Given the description of an element on the screen output the (x, y) to click on. 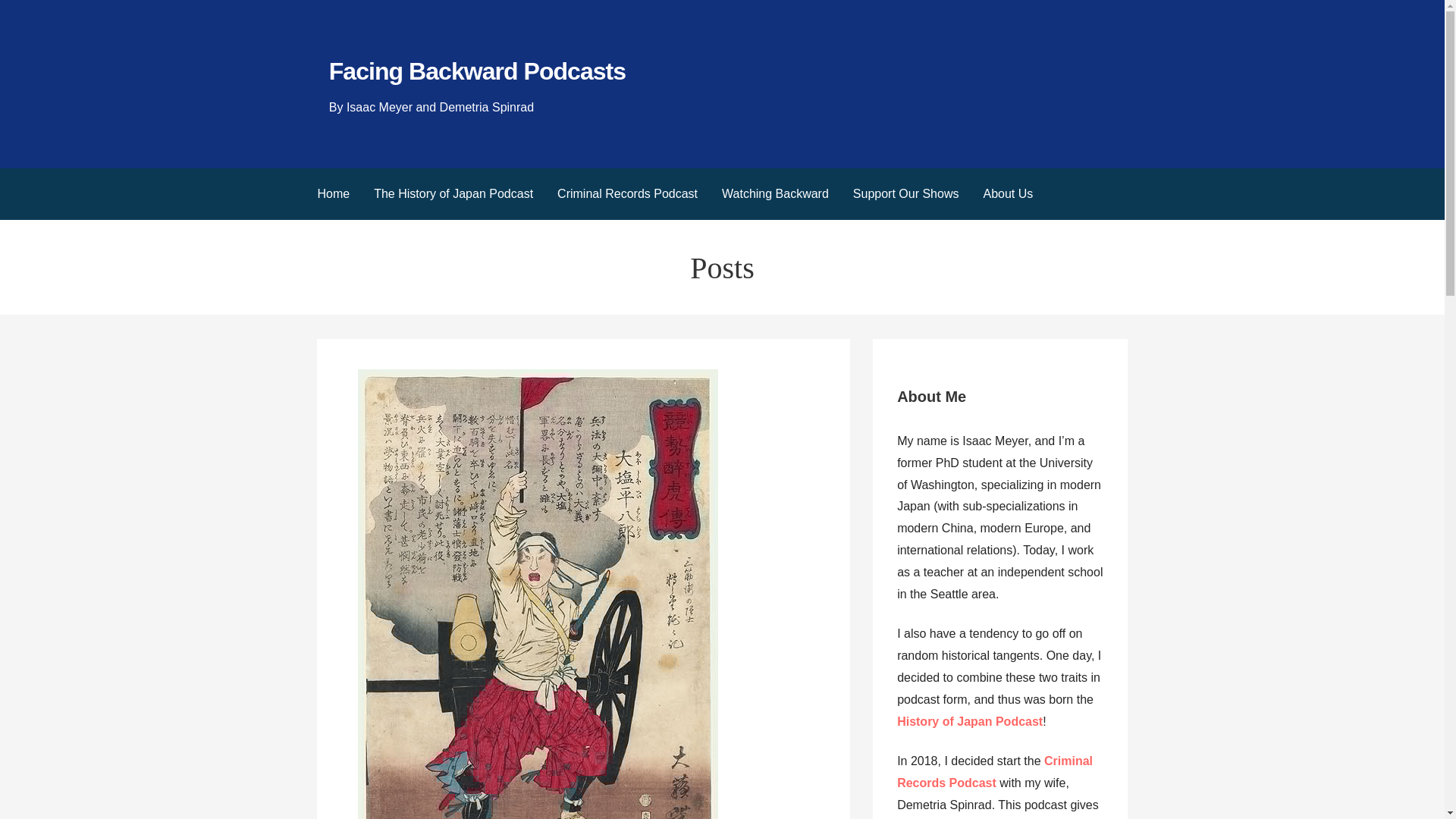
Support Our Shows (906, 193)
Facing Backward Podcasts (477, 71)
Watching Backward (775, 193)
The History of Japan Podcast (452, 193)
Criminal Records Podcast (627, 193)
Home (332, 193)
About Us (1008, 193)
Criminal Records Podcast (994, 771)
Search (31, 15)
History of Japan Podcast (969, 721)
